Given the description of an element on the screen output the (x, y) to click on. 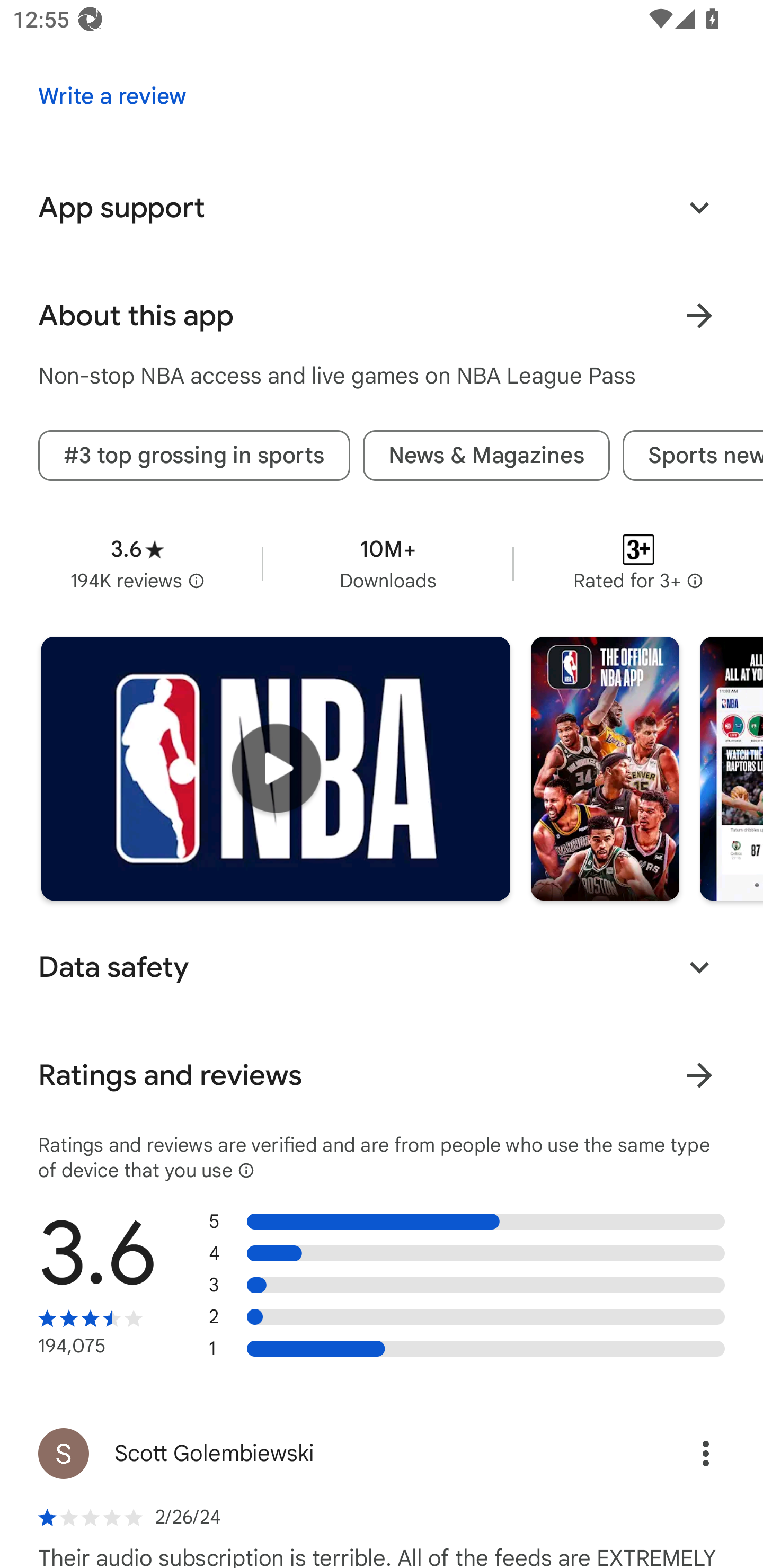
Write a review (112, 96)
App support Expand (381, 207)
Expand (699, 207)
About this app Learn more About this app (381, 315)
Learn more About this app (699, 315)
#3 top grossing in sports tag (194, 455)
News & Magazines tag (486, 455)
Average rating 3.6 stars in 194 thousand reviews (137, 563)
Content rating Rated for 3+ (638, 563)
Play trailer for "NBA: Live Games & Scores" (275, 768)
Screenshot "1" of "7" (605, 768)
Data safety Expand (381, 967)
Expand (699, 967)
Ratings and reviews View all ratings and reviews (381, 1074)
View all ratings and reviews (699, 1074)
Options (686, 1453)
